Given the description of an element on the screen output the (x, y) to click on. 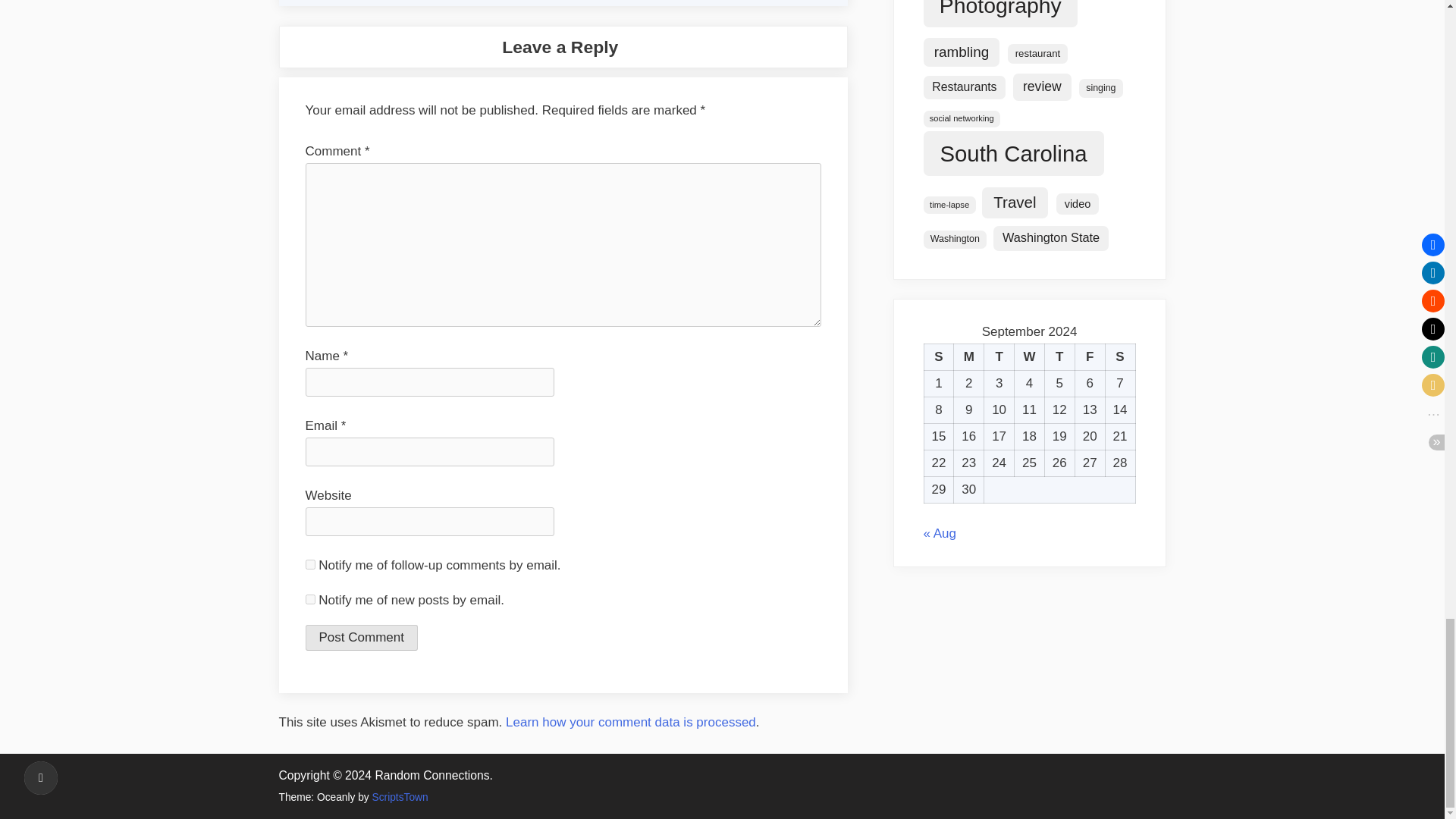
Saturday (1120, 357)
Learn how your comment data is processed (630, 721)
Monday (968, 357)
Wednesday (1029, 357)
Friday (1089, 357)
Thursday (1058, 357)
Tuesday (999, 357)
subscribe (309, 564)
Post Comment (360, 637)
Post Comment (360, 637)
